Given the description of an element on the screen output the (x, y) to click on. 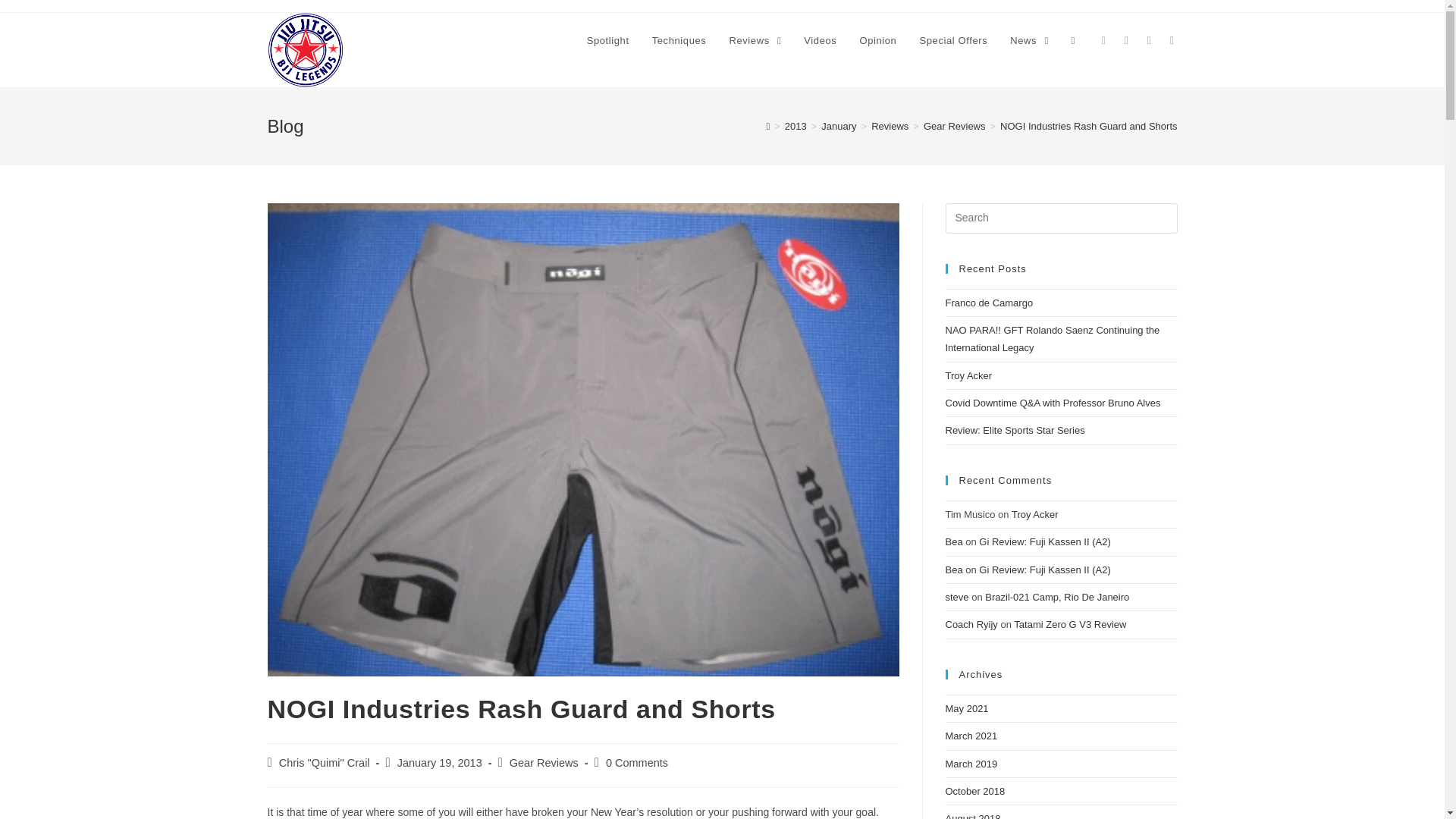
Techniques (678, 40)
Reviews (754, 40)
Special Offers (952, 40)
Opinion (877, 40)
Videos (819, 40)
Posts by Chris "Quimi" Crail (324, 762)
News (1028, 40)
Spotlight (607, 40)
